Given the description of an element on the screen output the (x, y) to click on. 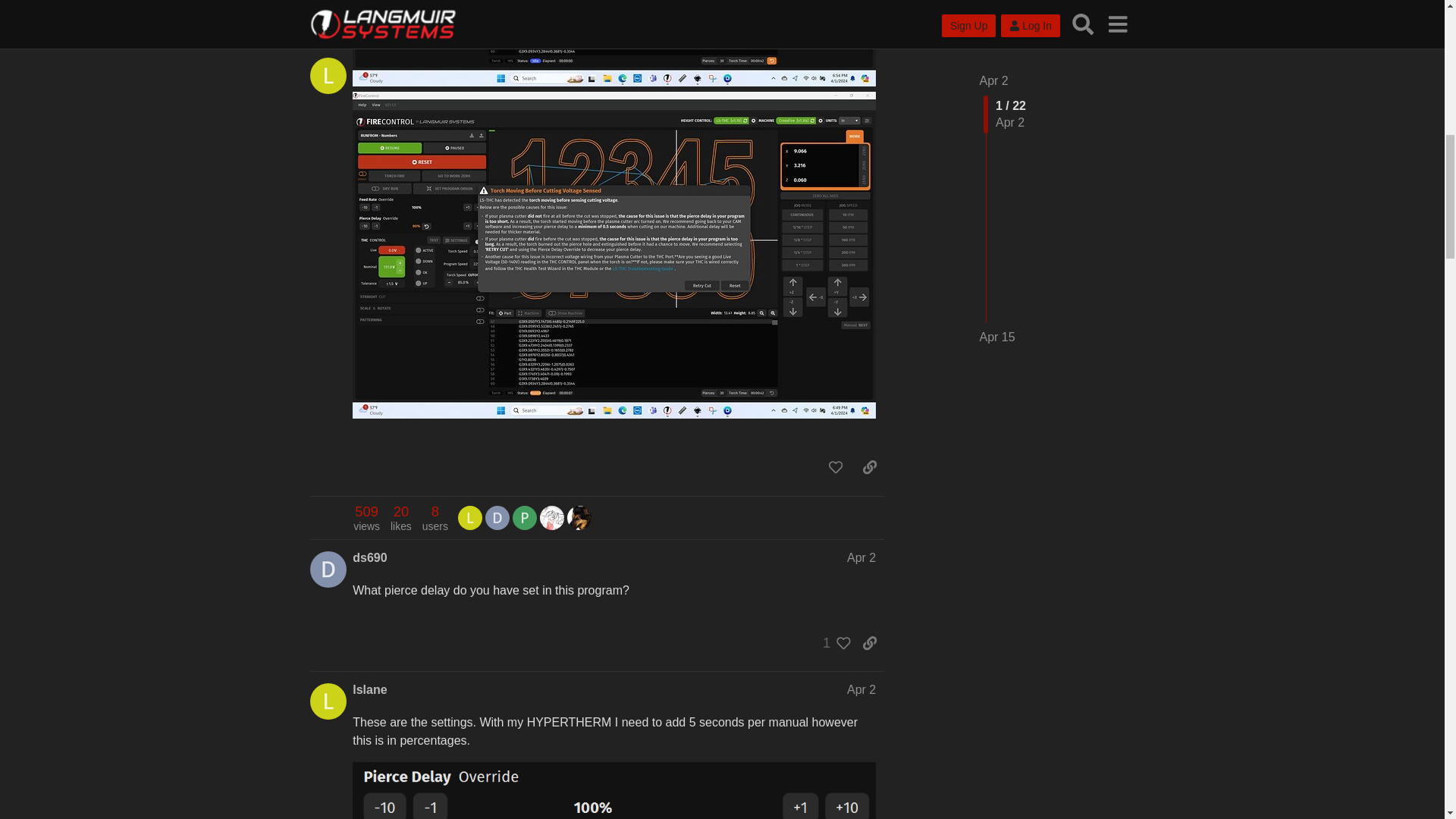
David Saul (496, 517)
Apr 2 (861, 556)
lslane (469, 516)
ds690 (369, 556)
Lee (366, 517)
Apr 2 (469, 517)
Settings (861, 689)
1 (614, 43)
